Given the description of an element on the screen output the (x, y) to click on. 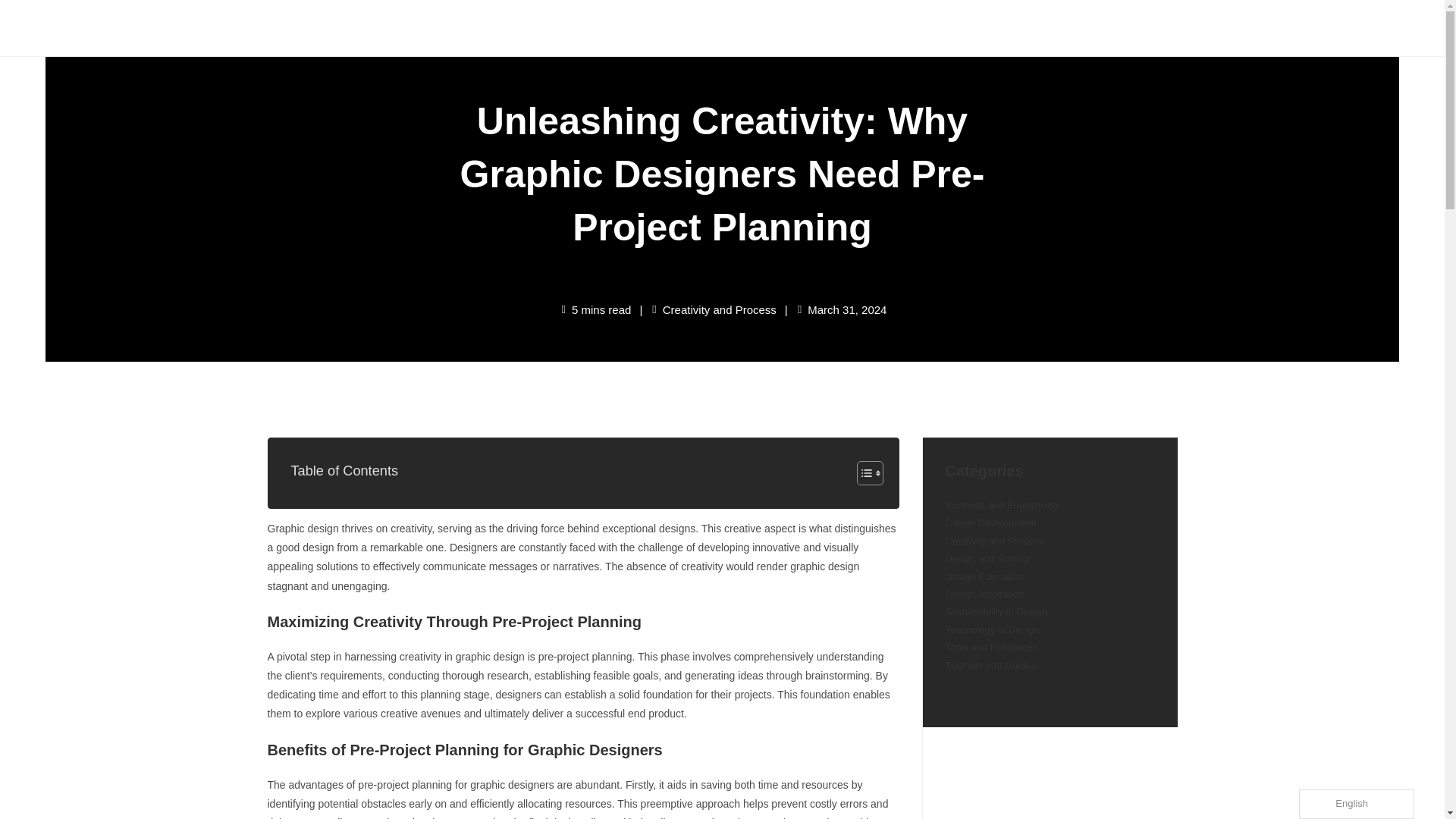
Creativity and Process (719, 309)
